Given the description of an element on the screen output the (x, y) to click on. 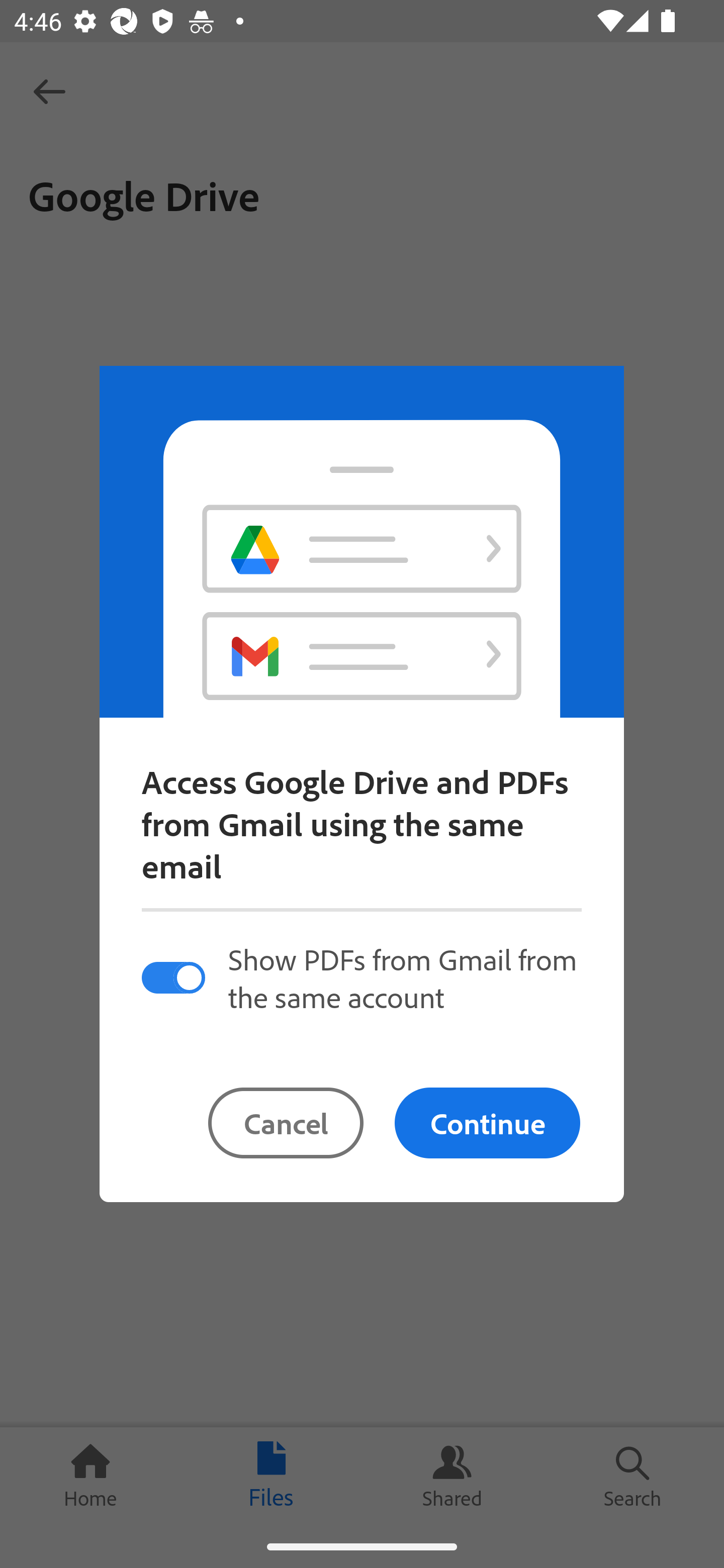
Show PDFs from Gmail from the same account (361, 977)
Cancel (285, 1123)
Continue (487, 1123)
